Given the description of an element on the screen output the (x, y) to click on. 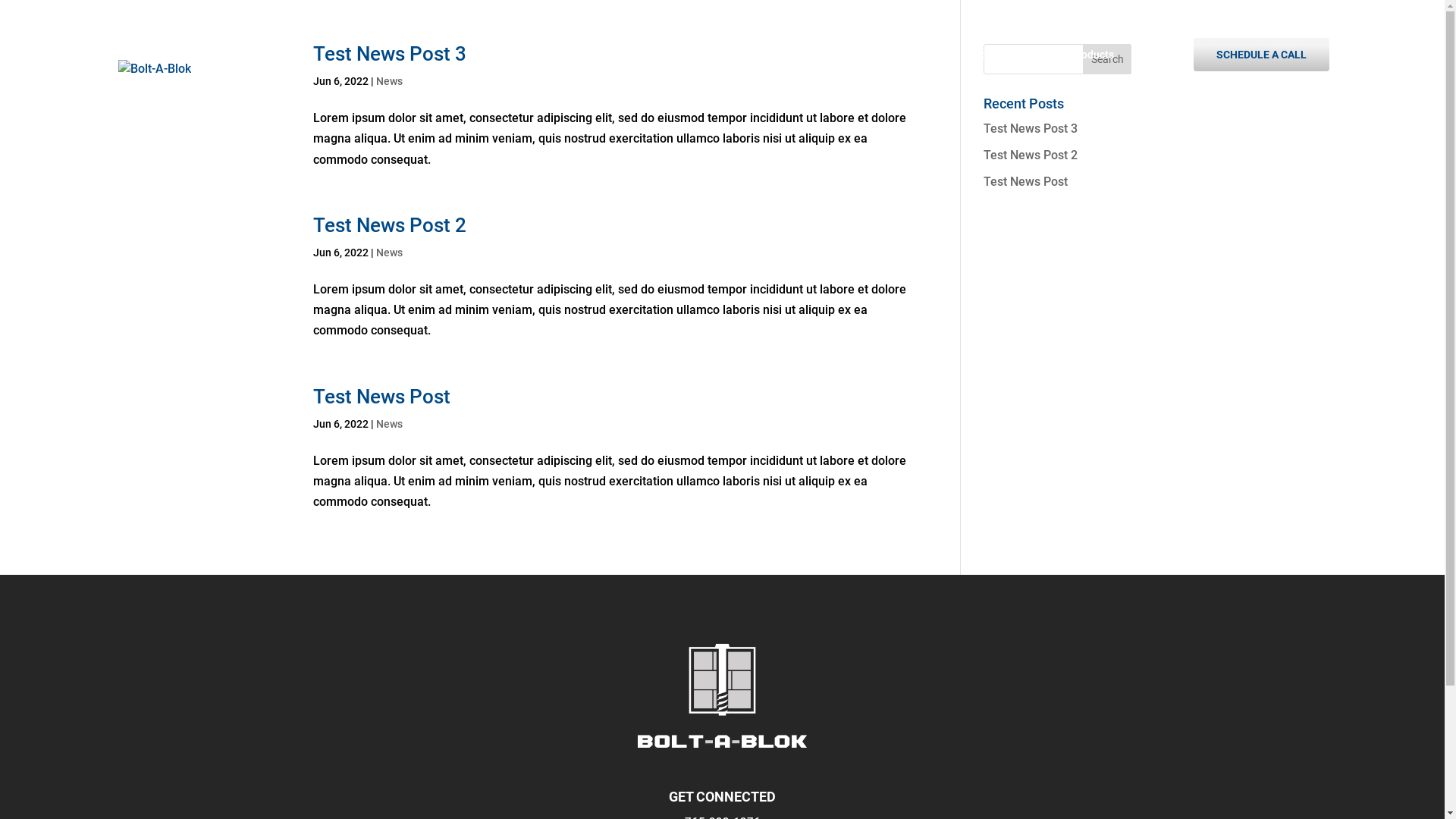
Test News Post 3 Element type: text (388, 53)
News Element type: text (389, 252)
How It Works Element type: text (1012, 75)
Test News Post Element type: text (1025, 181)
Test News Post Element type: text (380, 396)
News Element type: text (389, 423)
Test News Post 2 Element type: text (1030, 154)
Projects Element type: text (1153, 75)
Search Element type: text (1107, 58)
About Element type: text (939, 75)
Products Element type: text (1091, 75)
Test News Post 2 Element type: text (388, 224)
SCHEDULE A CALL Element type: text (1261, 54)
News Element type: text (389, 81)
Test News Post 3 Element type: text (1030, 128)
